Given the description of an element on the screen output the (x, y) to click on. 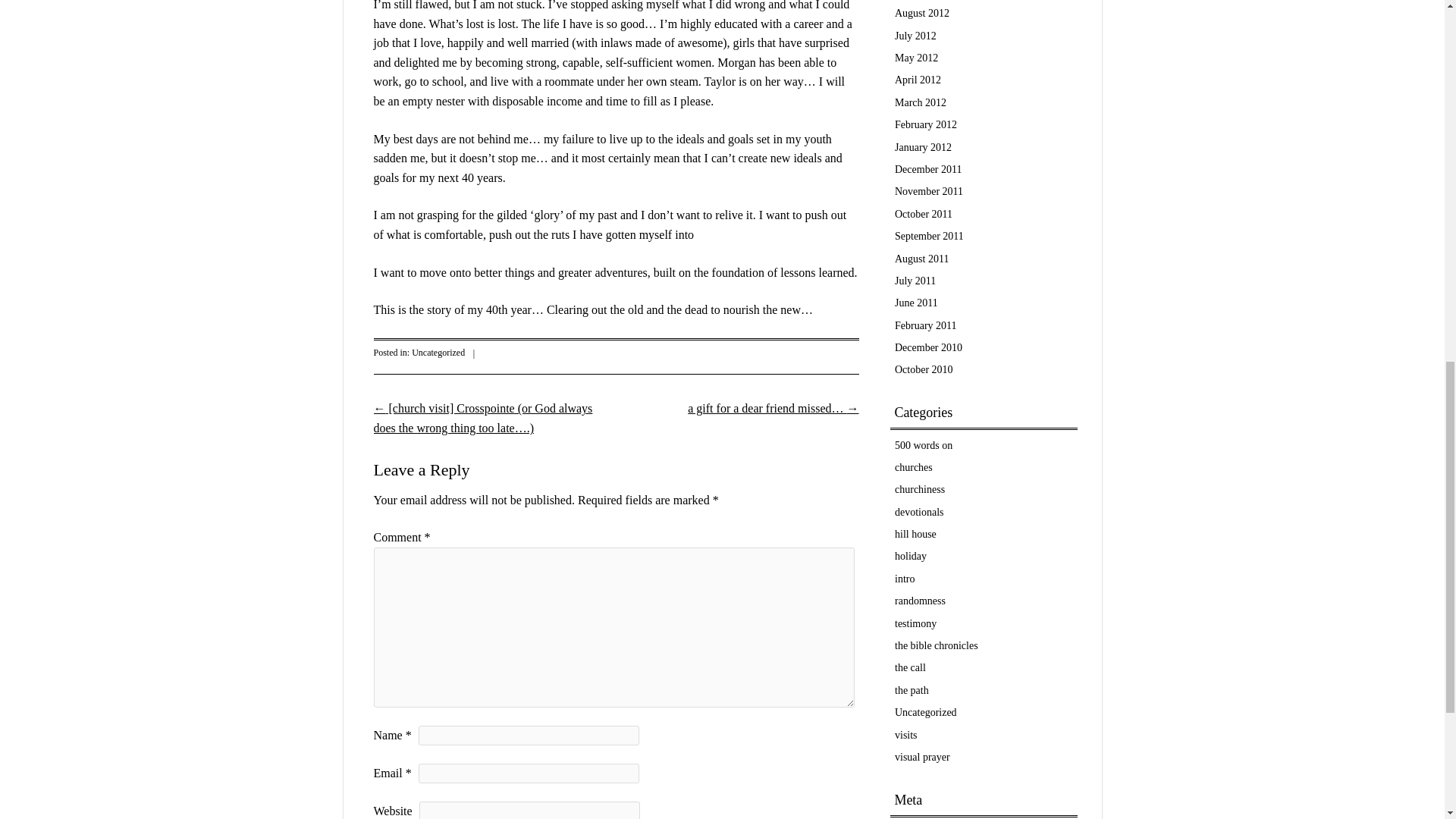
December 2011 (928, 169)
Uncategorized (438, 352)
April 2012 (917, 79)
May 2012 (916, 57)
July 2012 (915, 35)
November 2011 (928, 191)
August 2012 (922, 12)
February 2012 (925, 124)
January 2012 (923, 147)
October 2011 (923, 214)
March 2012 (920, 102)
